Given the description of an element on the screen output the (x, y) to click on. 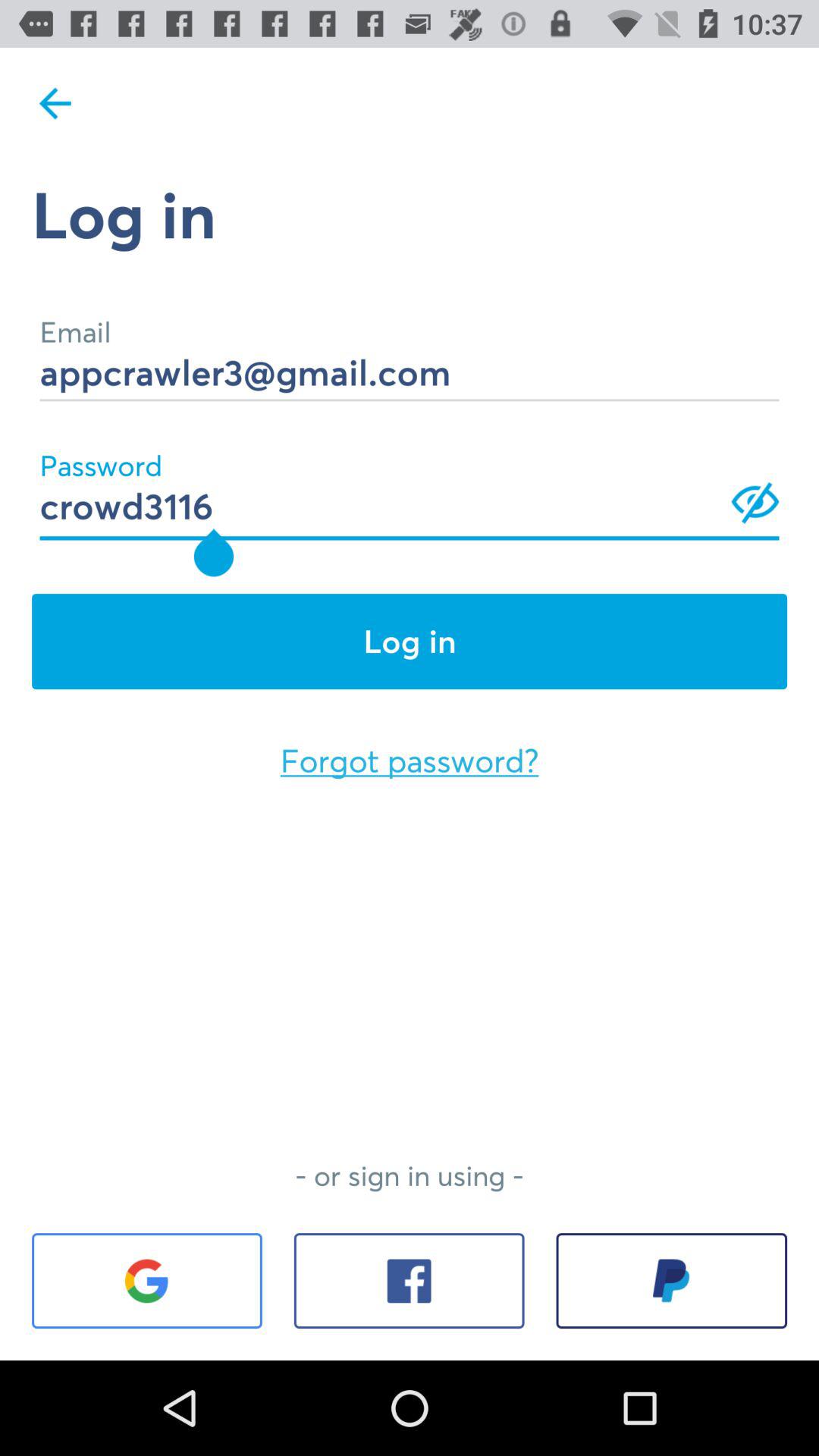
jump until the forgot password? icon (409, 760)
